Given the description of an element on the screen output the (x, y) to click on. 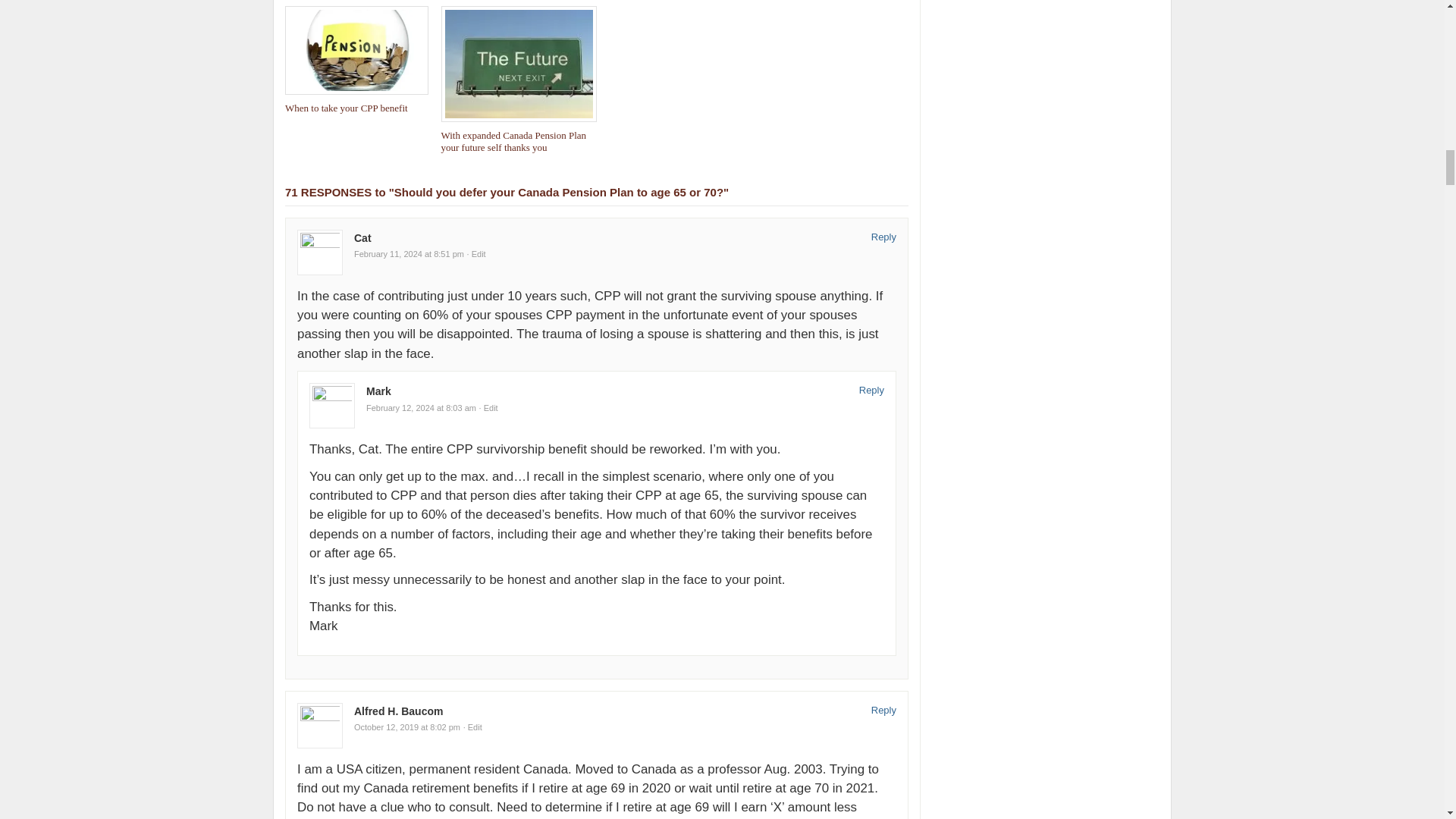
Edit Comment (488, 407)
Edit Comment (472, 727)
Edit Comment (476, 253)
